Given the description of an element on the screen output the (x, y) to click on. 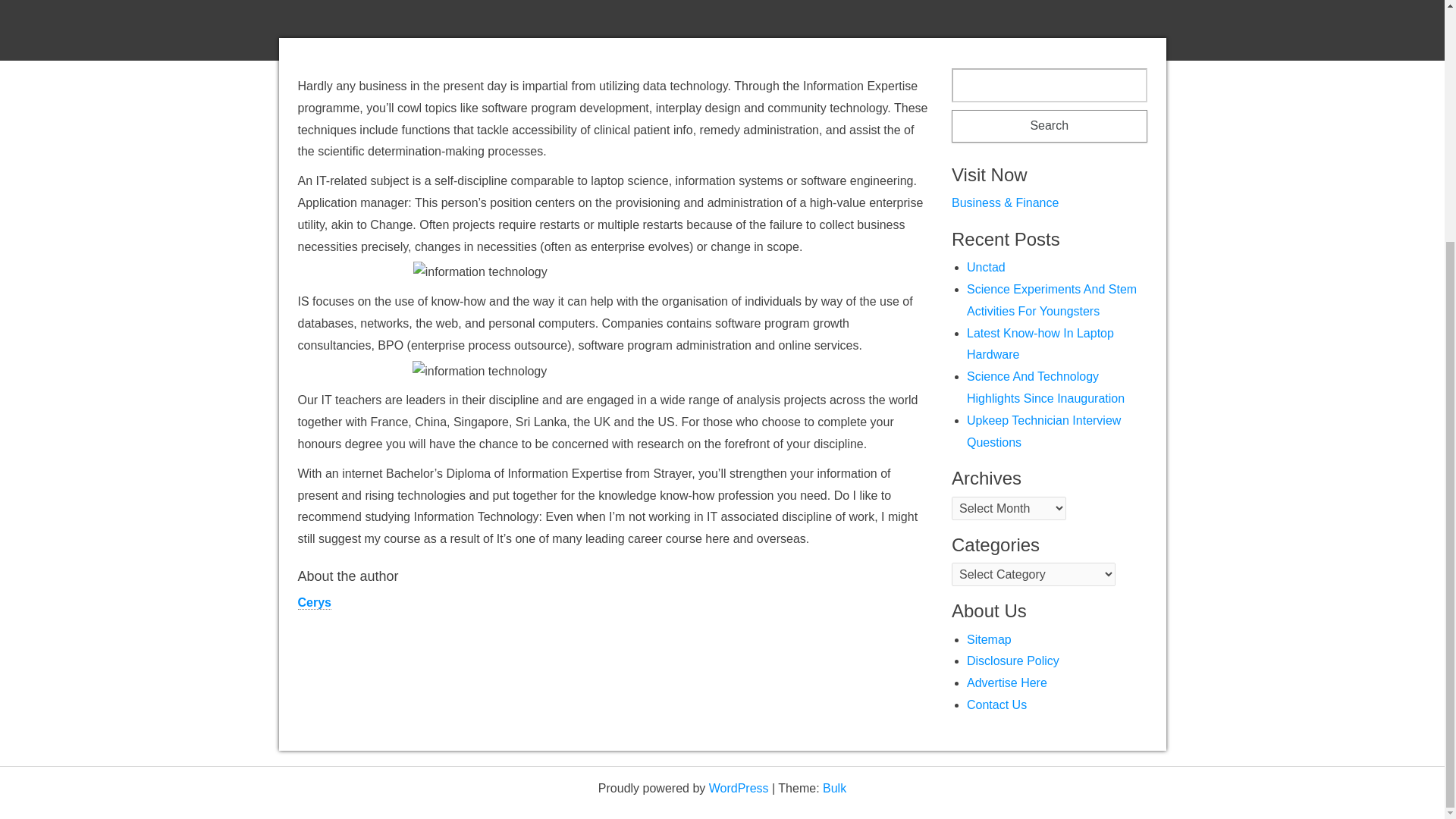
Latest Know-how In Laptop Hardware (1039, 343)
Science Experiments And Stem Activities For Youngsters (1051, 299)
Search (1049, 125)
Search (1049, 125)
Cerys (313, 602)
Unctad (986, 267)
